Given the description of an element on the screen output the (x, y) to click on. 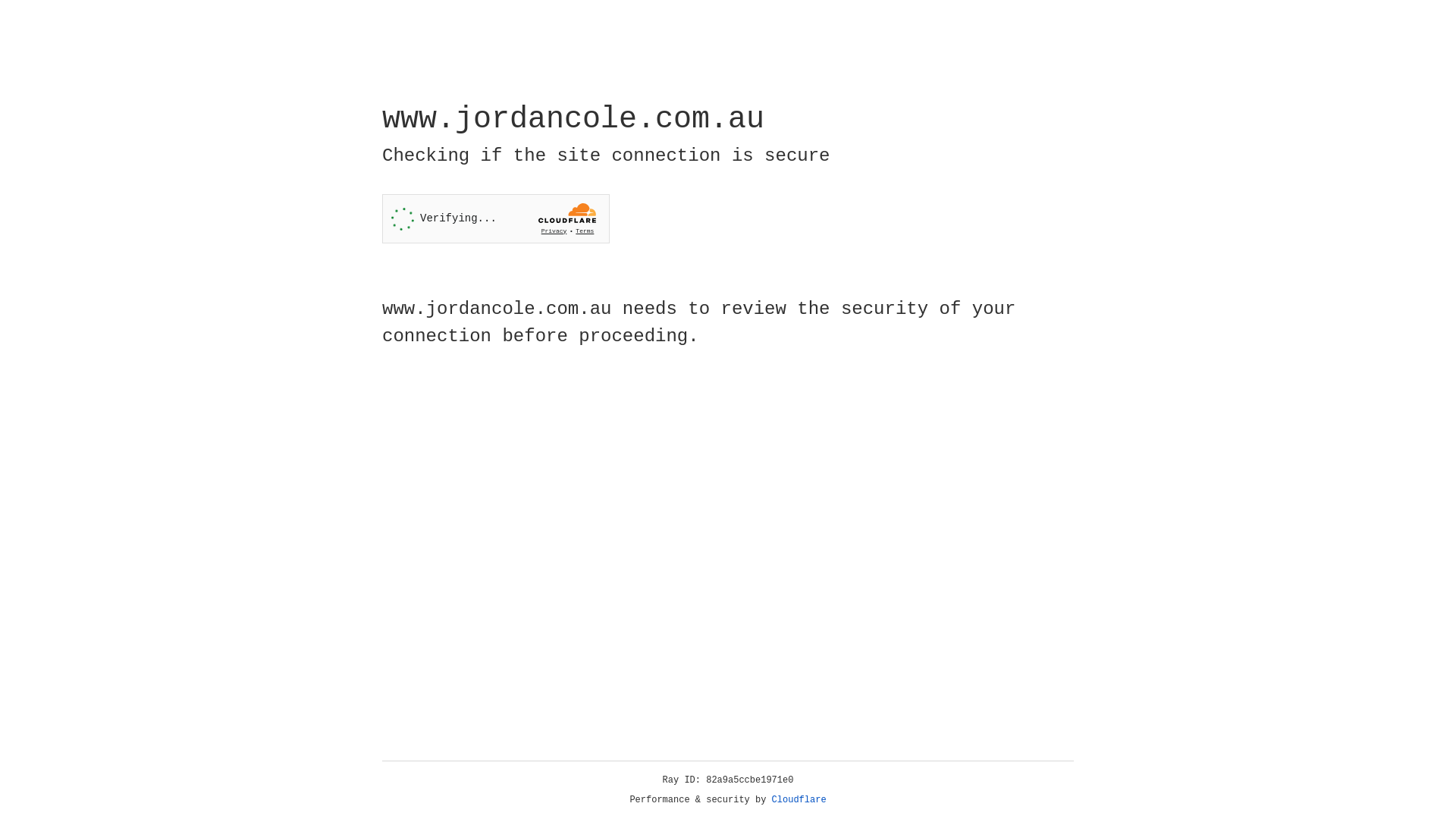
Widget containing a Cloudflare security challenge Element type: hover (495, 218)
Cloudflare Element type: text (798, 799)
